Given the description of an element on the screen output the (x, y) to click on. 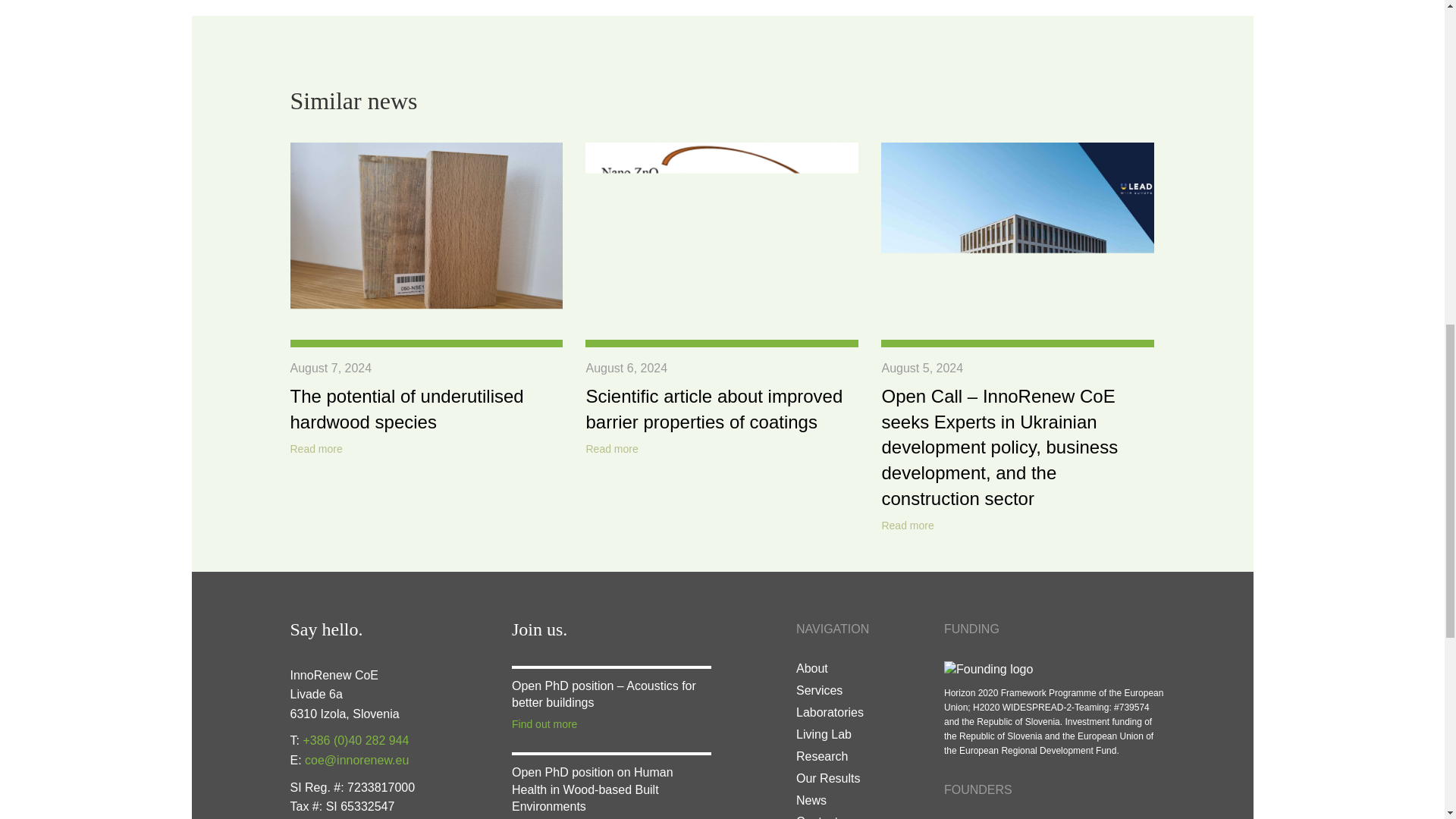
The potential of underutilised hardwood species (405, 408)
Read more (906, 525)
Read more (611, 449)
Read more (315, 449)
